Given the description of an element on the screen output the (x, y) to click on. 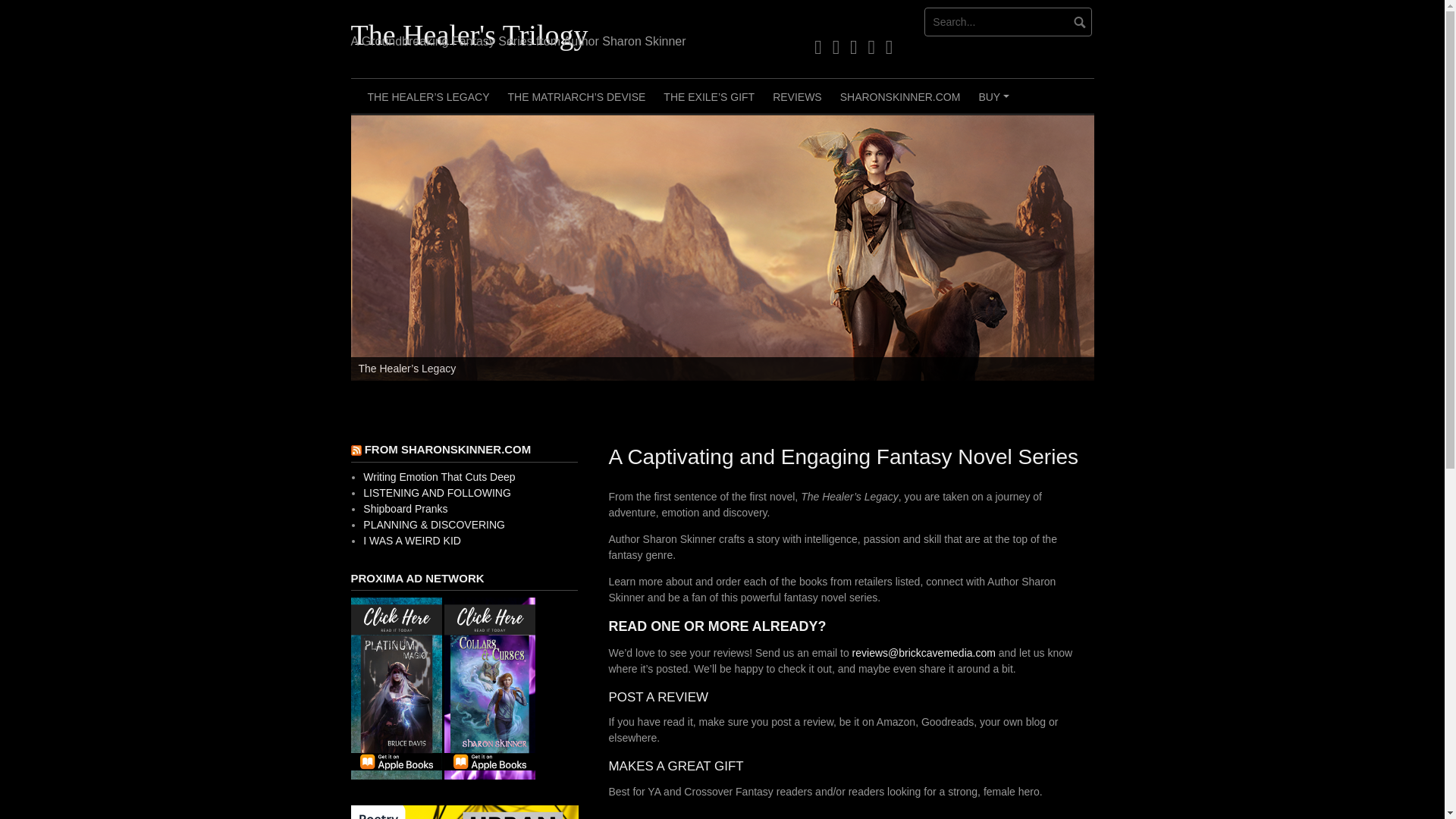
I WAS A WEIRD KID (411, 540)
Shipboard Pranks (404, 508)
LISTENING AND FOLLOWING (436, 492)
Writing Emotion That Cuts Deep (438, 476)
Search for: (1008, 21)
REVIEWS (796, 95)
SHARONSKINNER.COM (900, 95)
The Healer's Trilogy (469, 34)
FROM SHARONSKINNER.COM (448, 449)
